Given the description of an element on the screen output the (x, y) to click on. 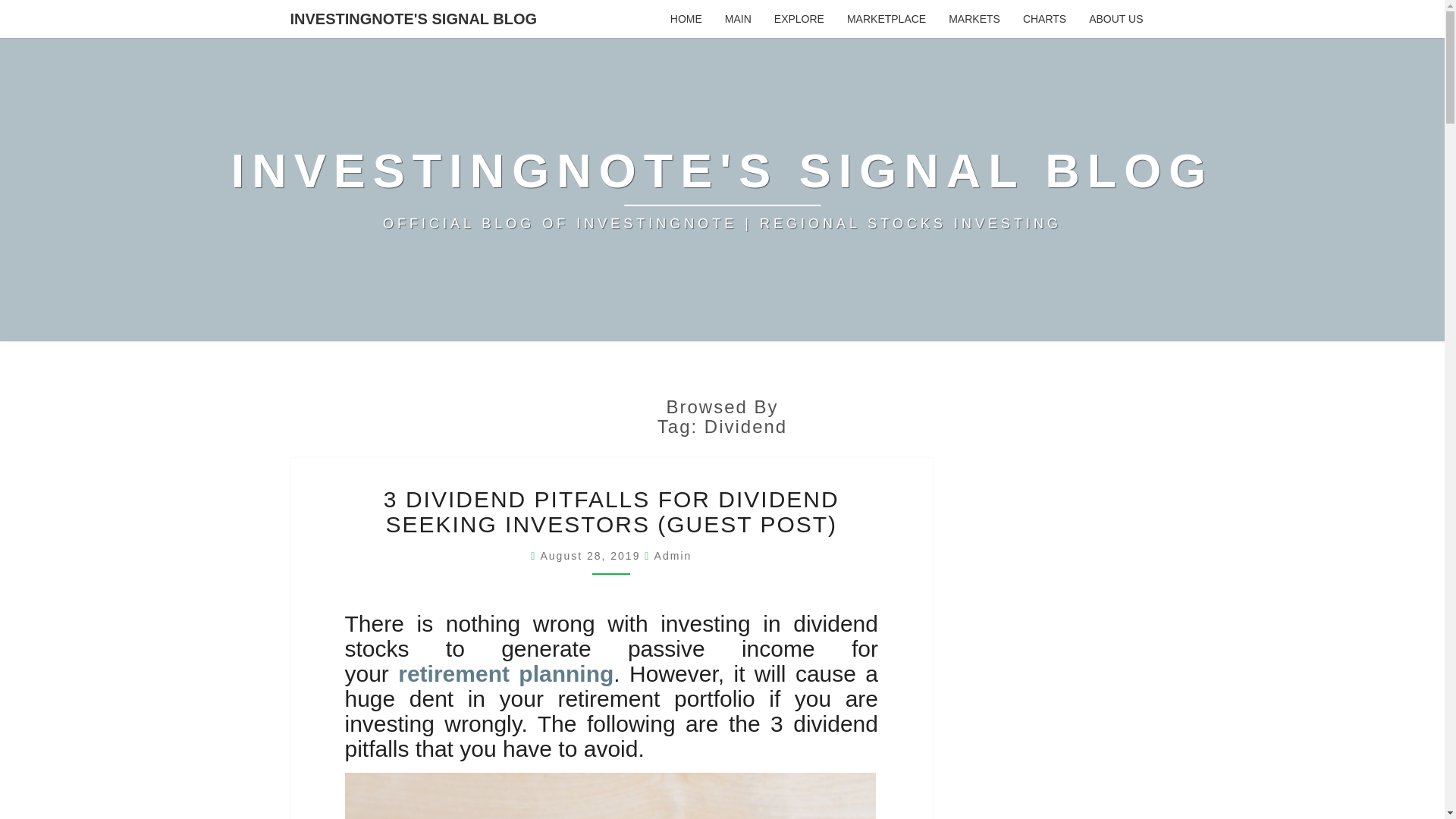
CHARTS (1044, 18)
INVESTINGNOTE'S SIGNAL BLOG (413, 18)
View all posts by admin (673, 555)
Explore (798, 18)
Home (686, 18)
HOME (686, 18)
Charts (1044, 18)
MAIN (737, 18)
MARKETS (974, 18)
ABOUT US (1115, 18)
InvestingNote's Signal Blog (721, 189)
Main (737, 18)
Admin (673, 555)
retirement planning (504, 673)
EXPLORE (798, 18)
